Given the description of an element on the screen output the (x, y) to click on. 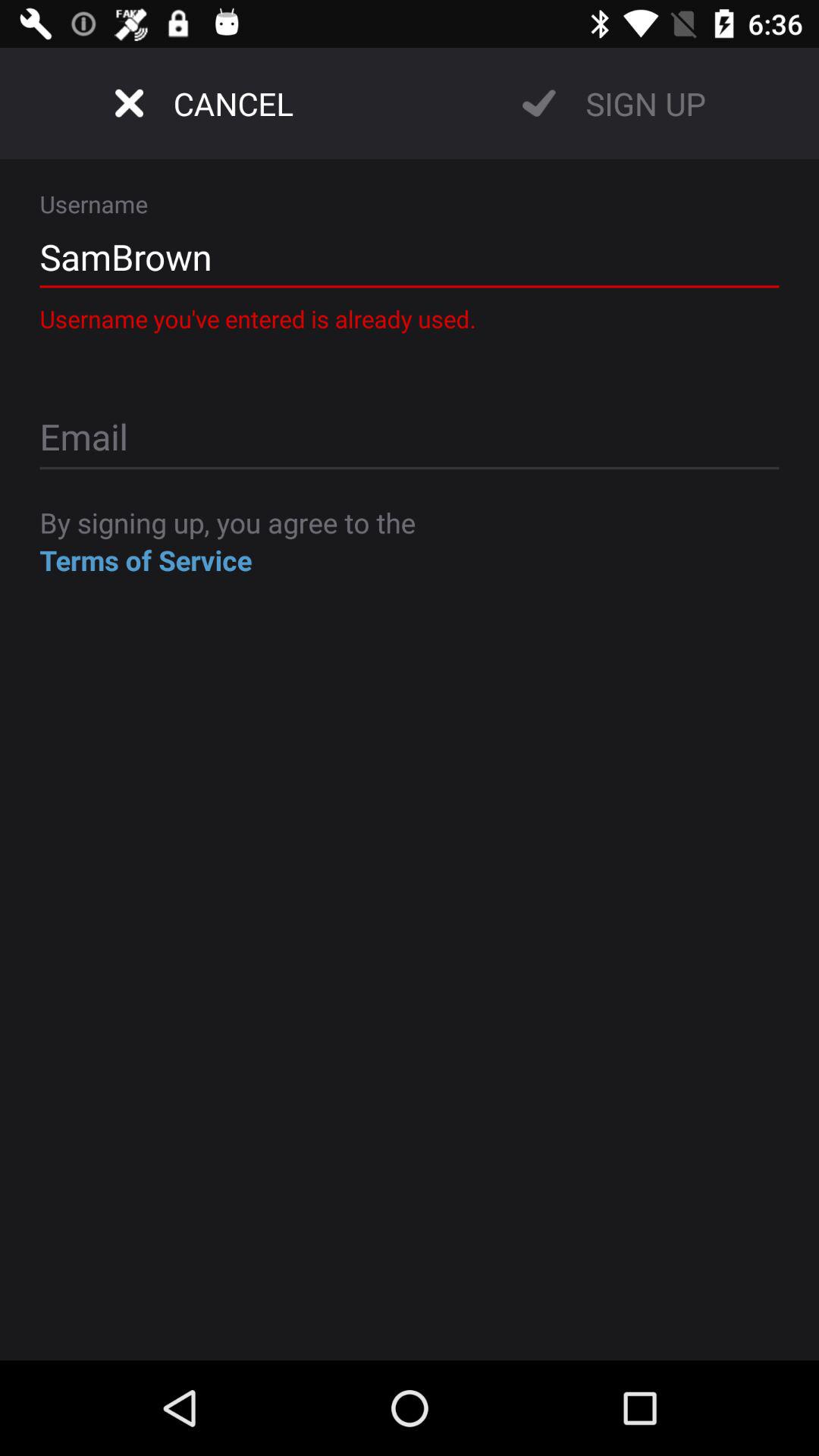
login page (409, 439)
